Given the description of an element on the screen output the (x, y) to click on. 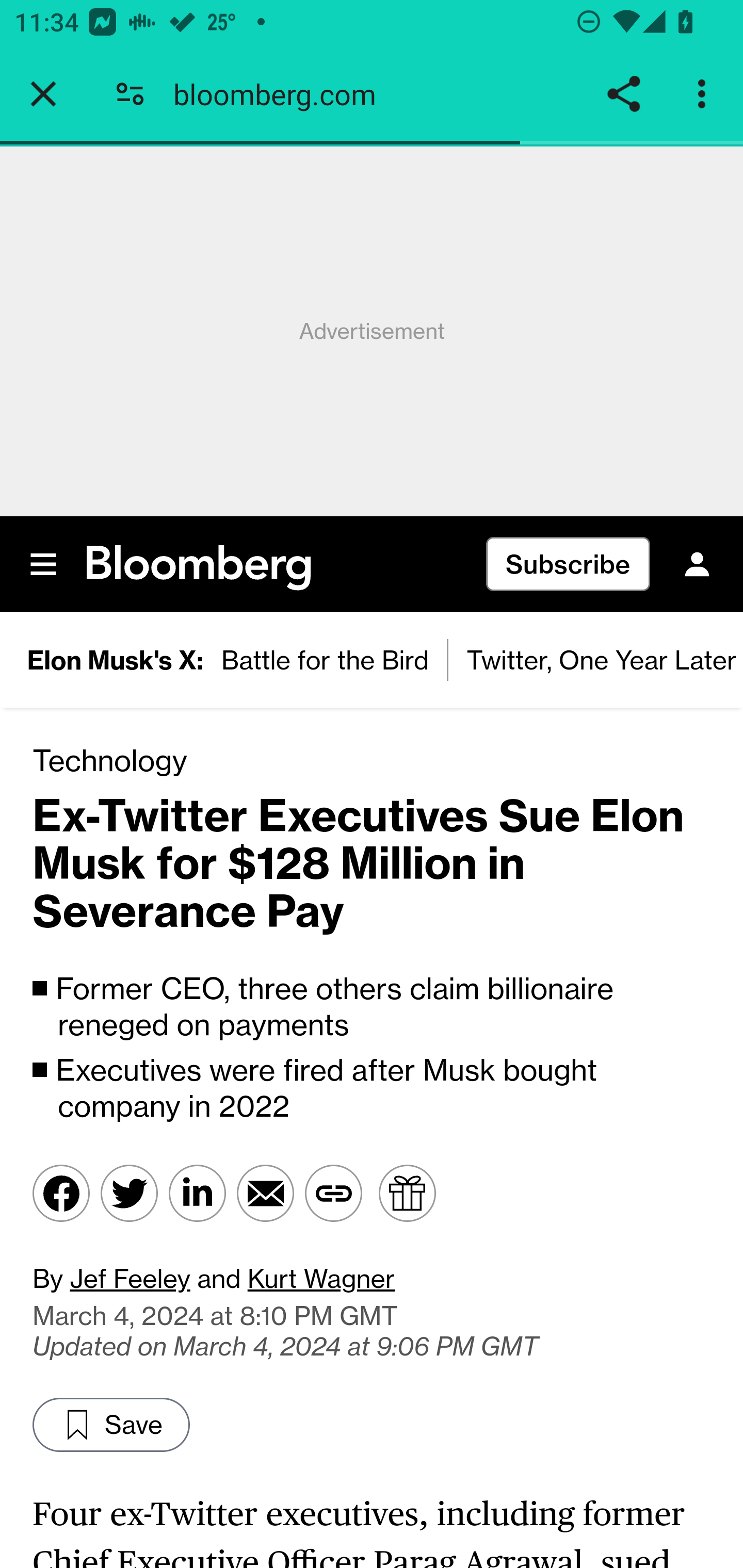
Close tab (43, 93)
Share (623, 93)
Customize and control Google Chrome (705, 93)
Connection is secure (129, 93)
bloomberg.com (281, 93)
Mobile Menu Button (44, 564)
Subscribe (567, 564)
Sign In (696, 564)
Bloomberg (199, 568)
Battle for the Bird (325, 660)
Twitter, One Year Later (595, 660)
Technology (109, 759)
Link (332, 1193)
Gift this article (406, 1193)
Jef Feeley (129, 1277)
Kurt Wagner (320, 1277)
Saved (111, 1425)
